Given the description of an element on the screen output the (x, y) to click on. 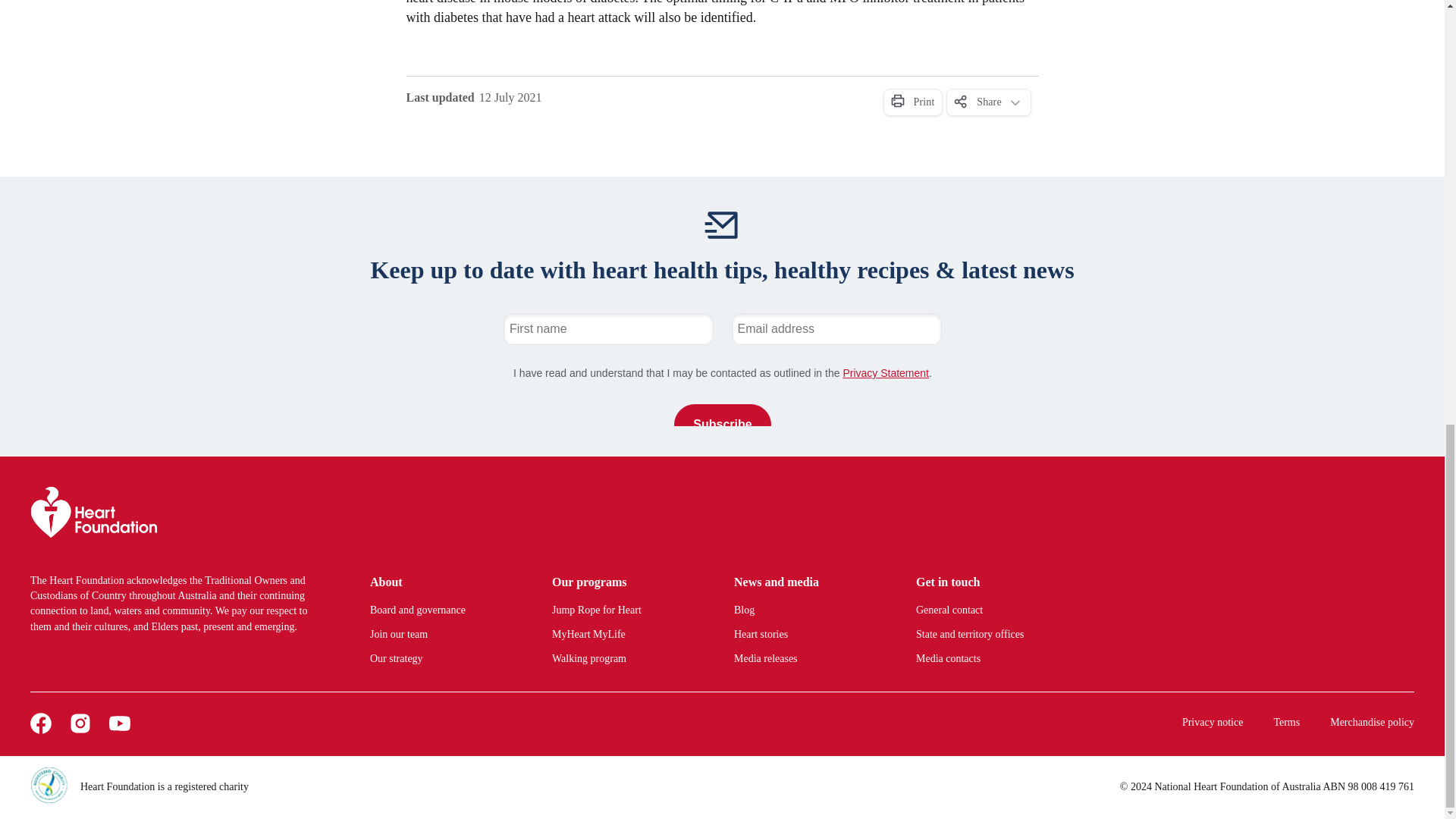
Jump Rope for Heart (624, 610)
Board and governance (442, 610)
Print (912, 102)
Walking program (624, 658)
Join our team (442, 634)
Newsletter Signup (722, 368)
About (442, 581)
Share (988, 102)
Our programs (624, 581)
MyHeart MyLife (624, 634)
